Given the description of an element on the screen output the (x, y) to click on. 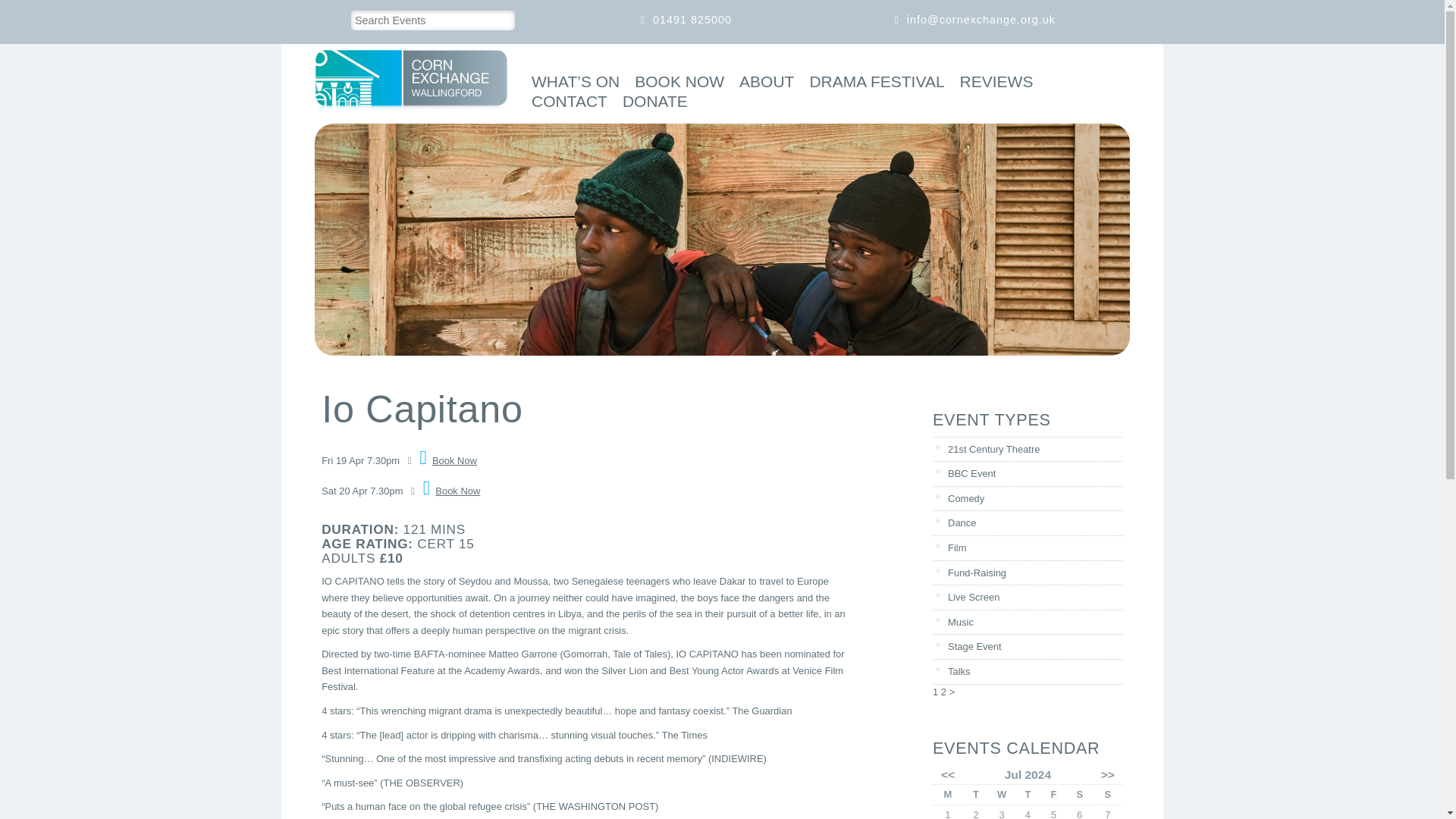
REVIEWS (992, 83)
DONATE (651, 103)
ABOUT (762, 83)
CONTACT (565, 103)
Book Now (451, 490)
whats on at the Corn Exchange Wallingford (571, 83)
BOOK NOW (675, 83)
Book Now (448, 460)
DRAMA FESTIVAL (872, 83)
